Given the description of an element on the screen output the (x, y) to click on. 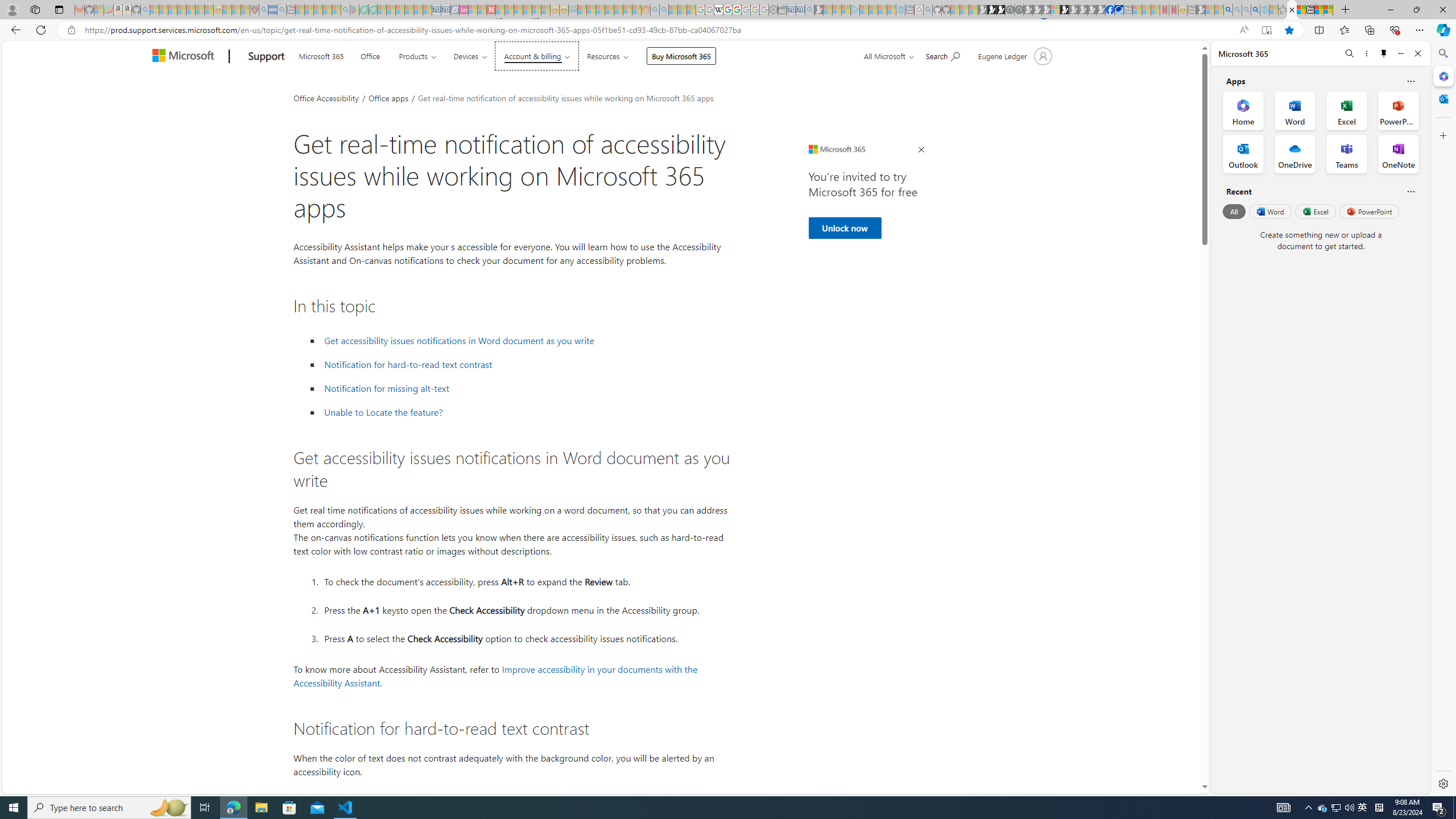
Microsoft account | Privacy - Sleeping (846, 9)
All (1233, 210)
Bing Real Estate - Home sales and rental listings - Sleeping (809, 9)
github - Search - Sleeping (927, 9)
Excel Office App (1346, 110)
